Given the description of an element on the screen output the (x, y) to click on. 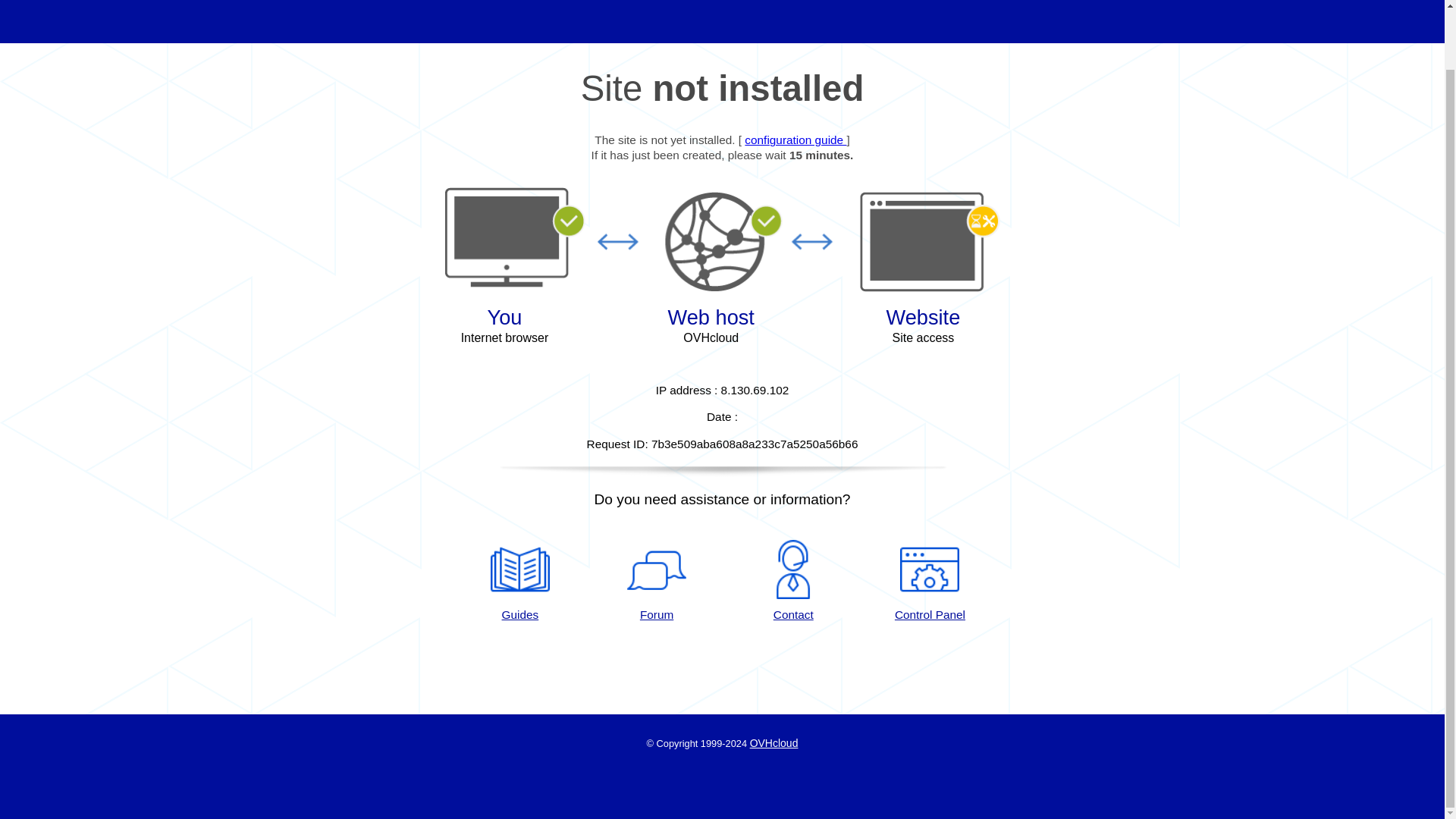
Contact (793, 581)
Guides (519, 581)
Guides (794, 139)
Guides (519, 581)
Control Panel (930, 581)
Forum (656, 581)
configuration guide (794, 139)
OVHcloud (773, 743)
Forum (656, 581)
Contact (793, 581)
Control Panel (930, 581)
